Given the description of an element on the screen output the (x, y) to click on. 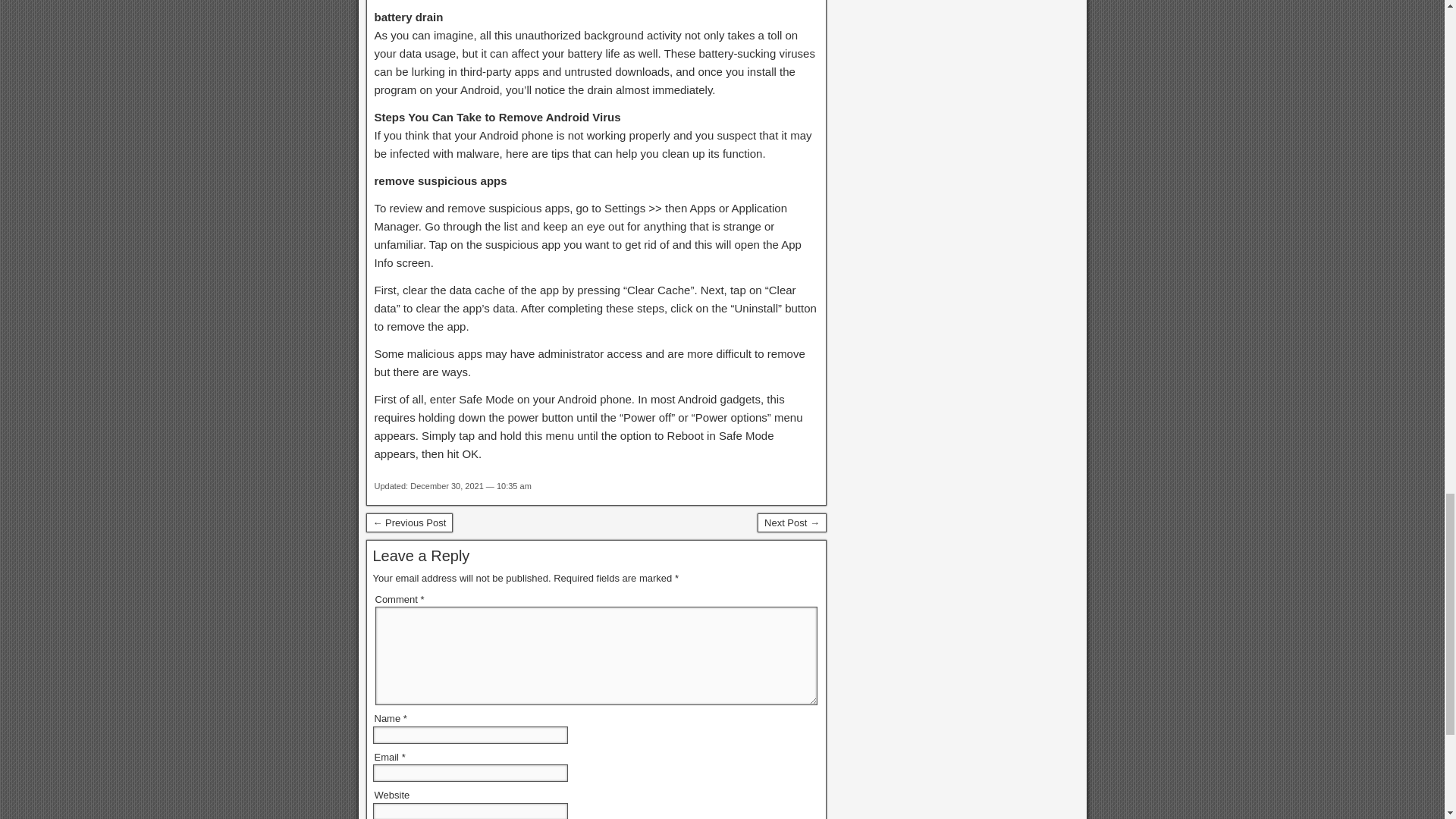
This new app acts like your personal astrologist (408, 523)
Last minute deals for travel in December (792, 523)
